Given the description of an element on the screen output the (x, y) to click on. 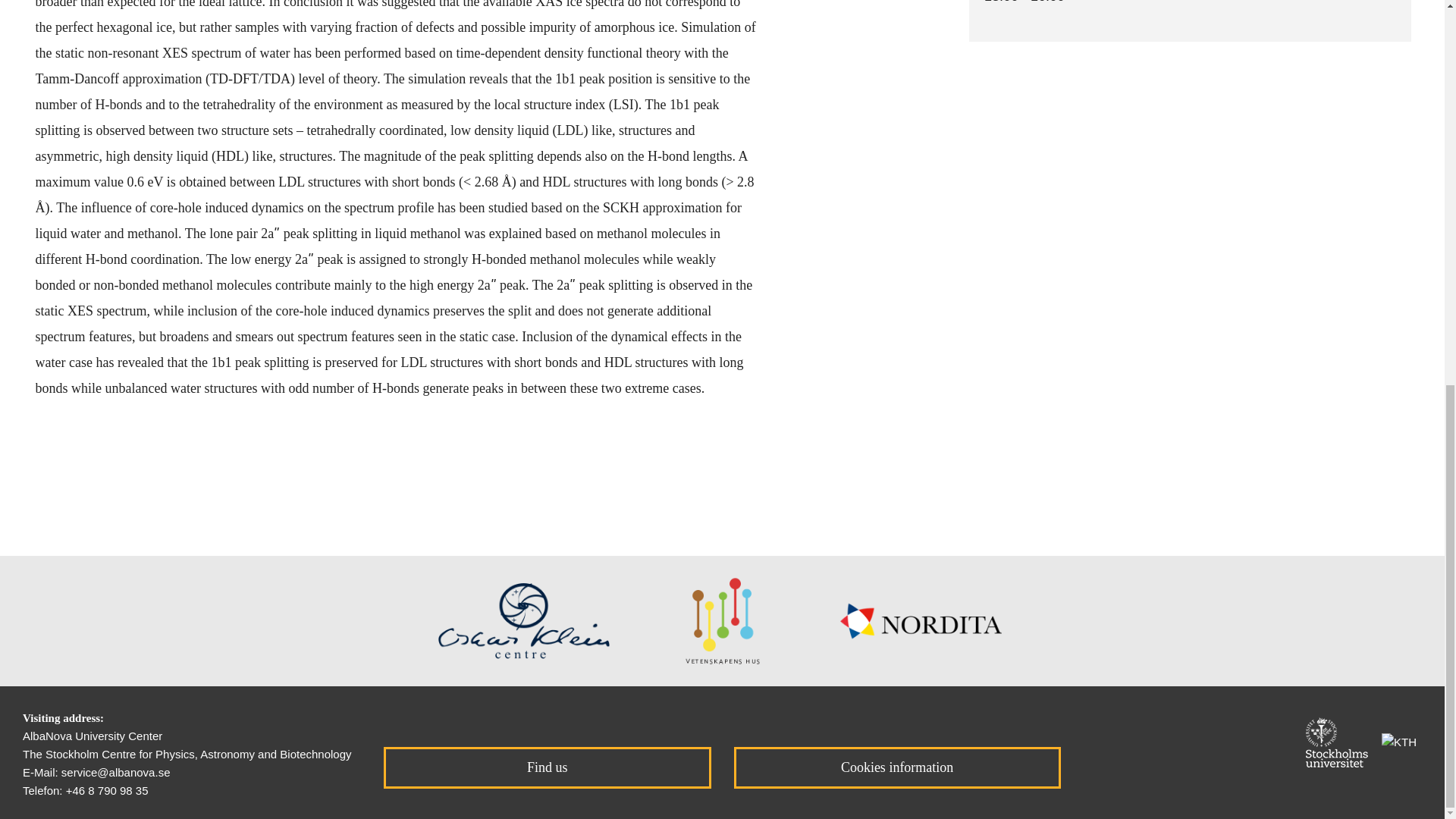
Cookies information (897, 767)
Find us (547, 767)
